Given the description of an element on the screen output the (x, y) to click on. 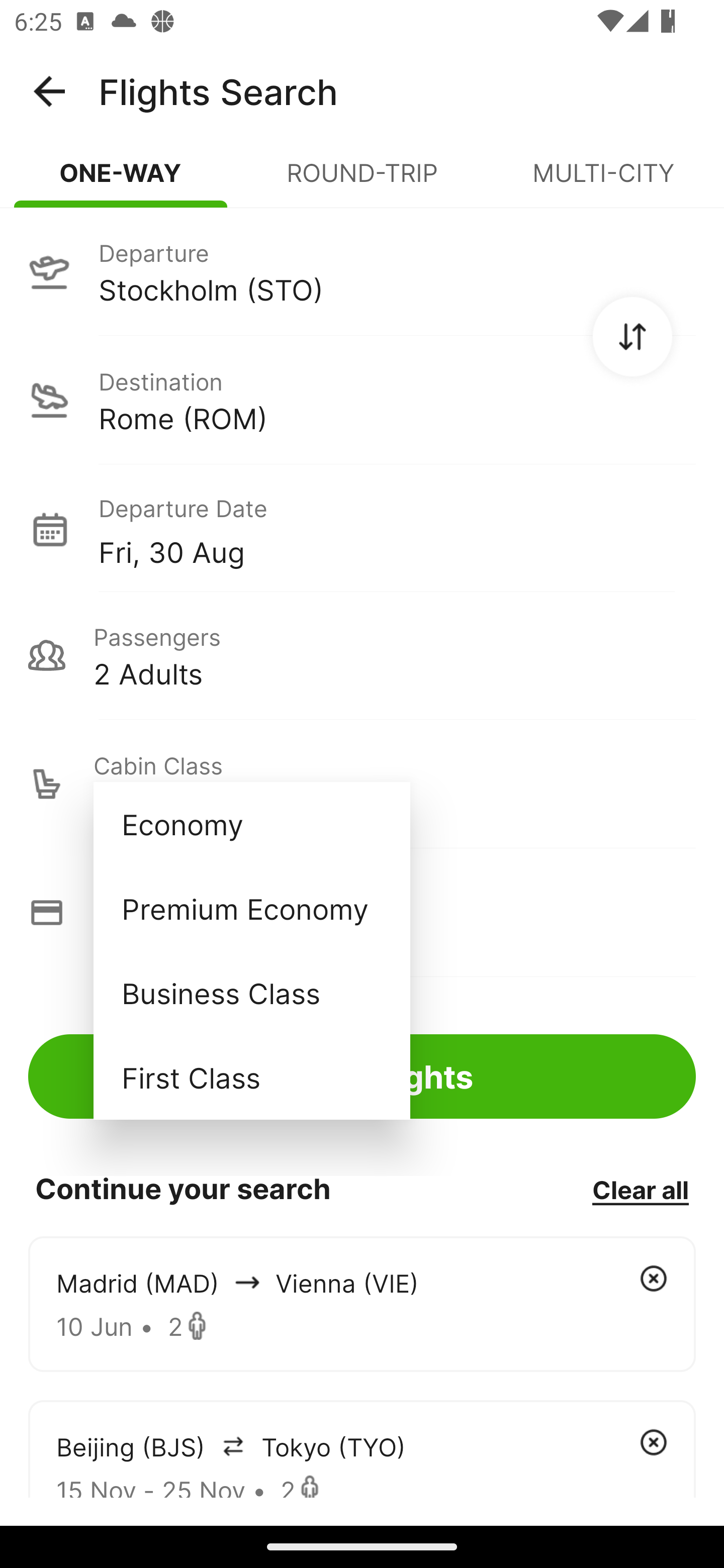
Economy (251, 824)
Premium Economy (251, 908)
Business Class (251, 992)
First Class (251, 1076)
